Given the description of an element on the screen output the (x, y) to click on. 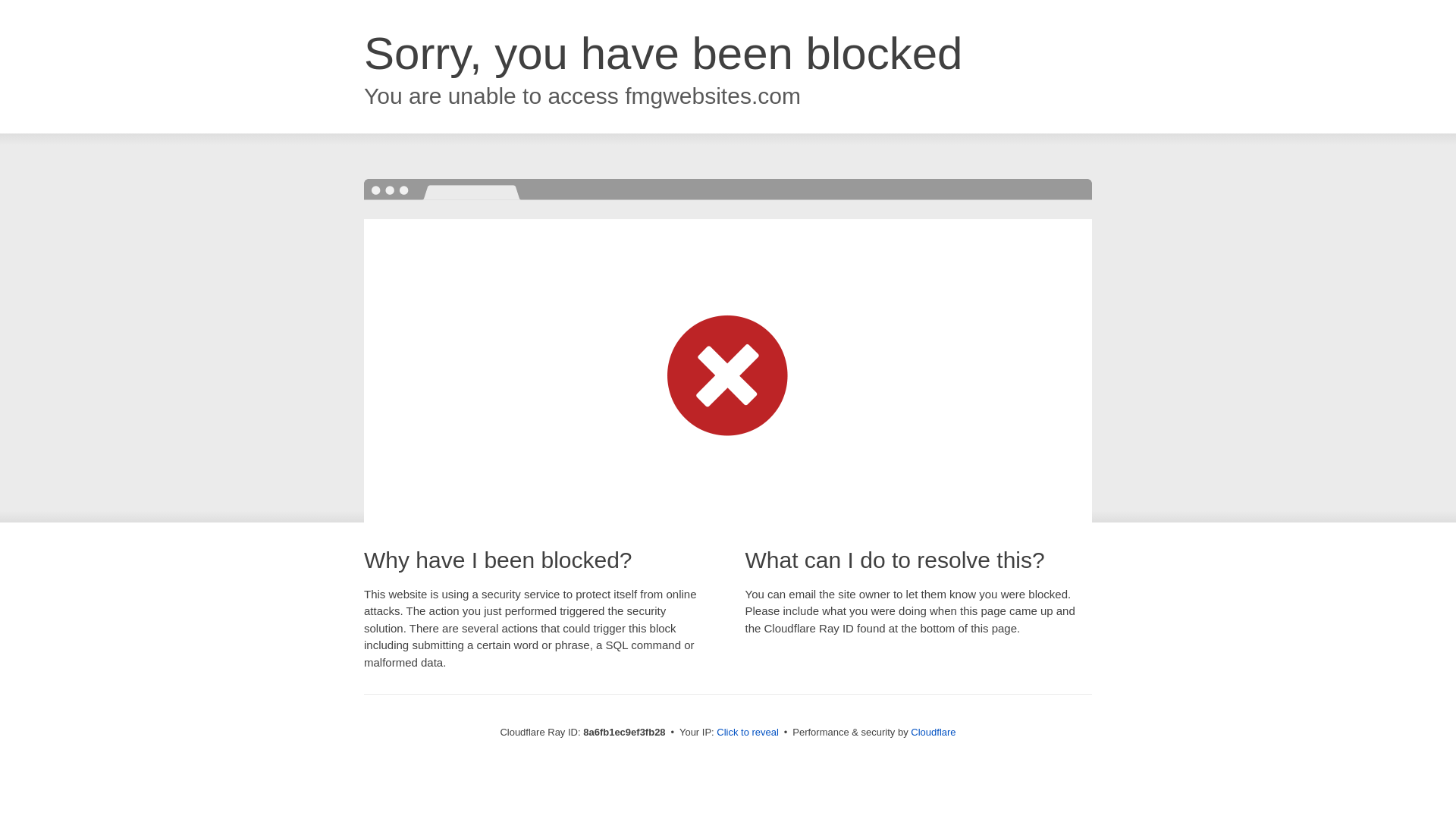
Click to reveal (747, 732)
Cloudflare (933, 731)
